Given the description of an element on the screen output the (x, y) to click on. 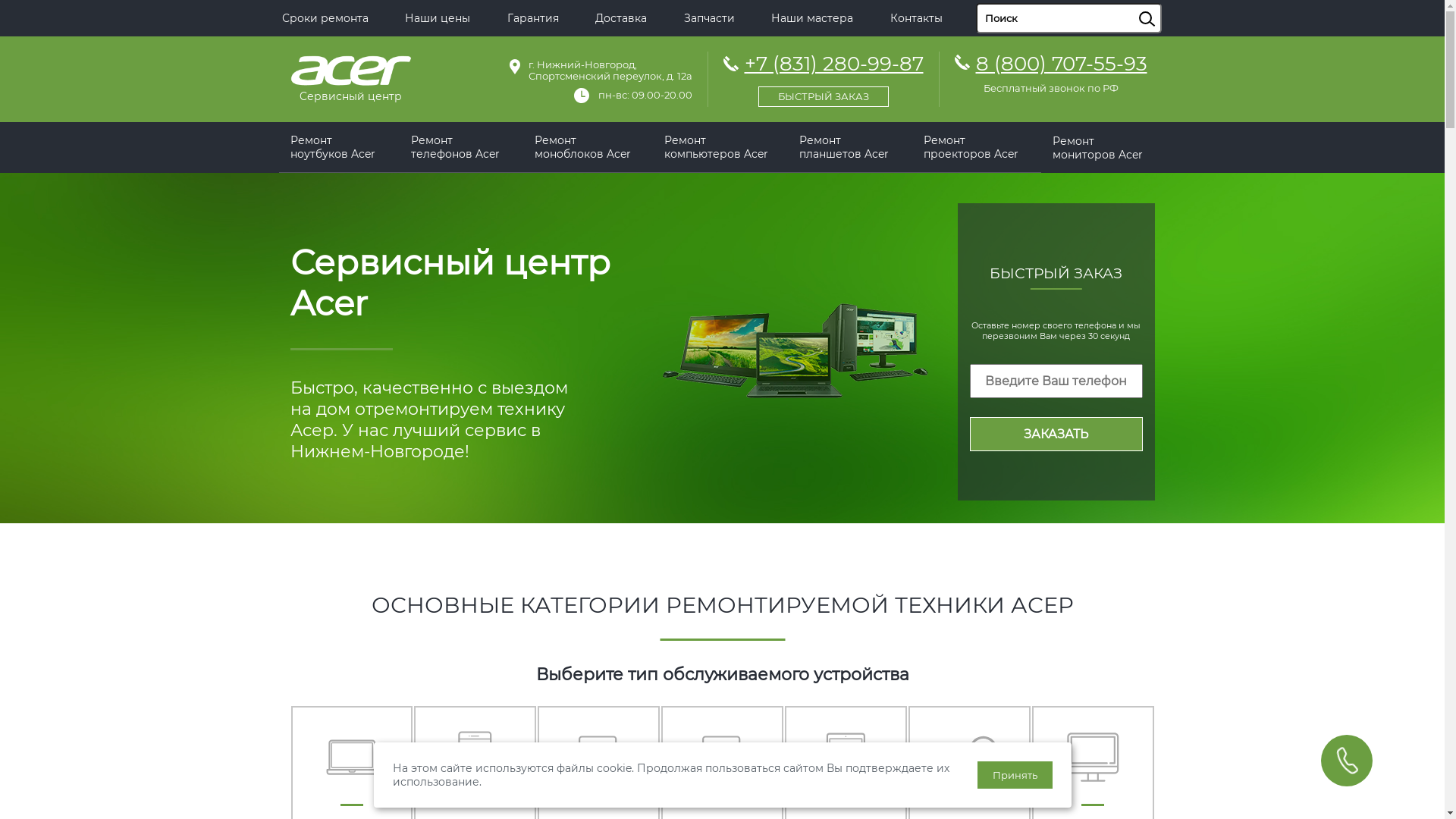
sisea.search Element type: text (1165, 3)
+7 (831) 280-99-87 Element type: text (823, 77)
8 (800) 707-55-93 Element type: text (1060, 63)
